Given the description of an element on the screen output the (x, y) to click on. 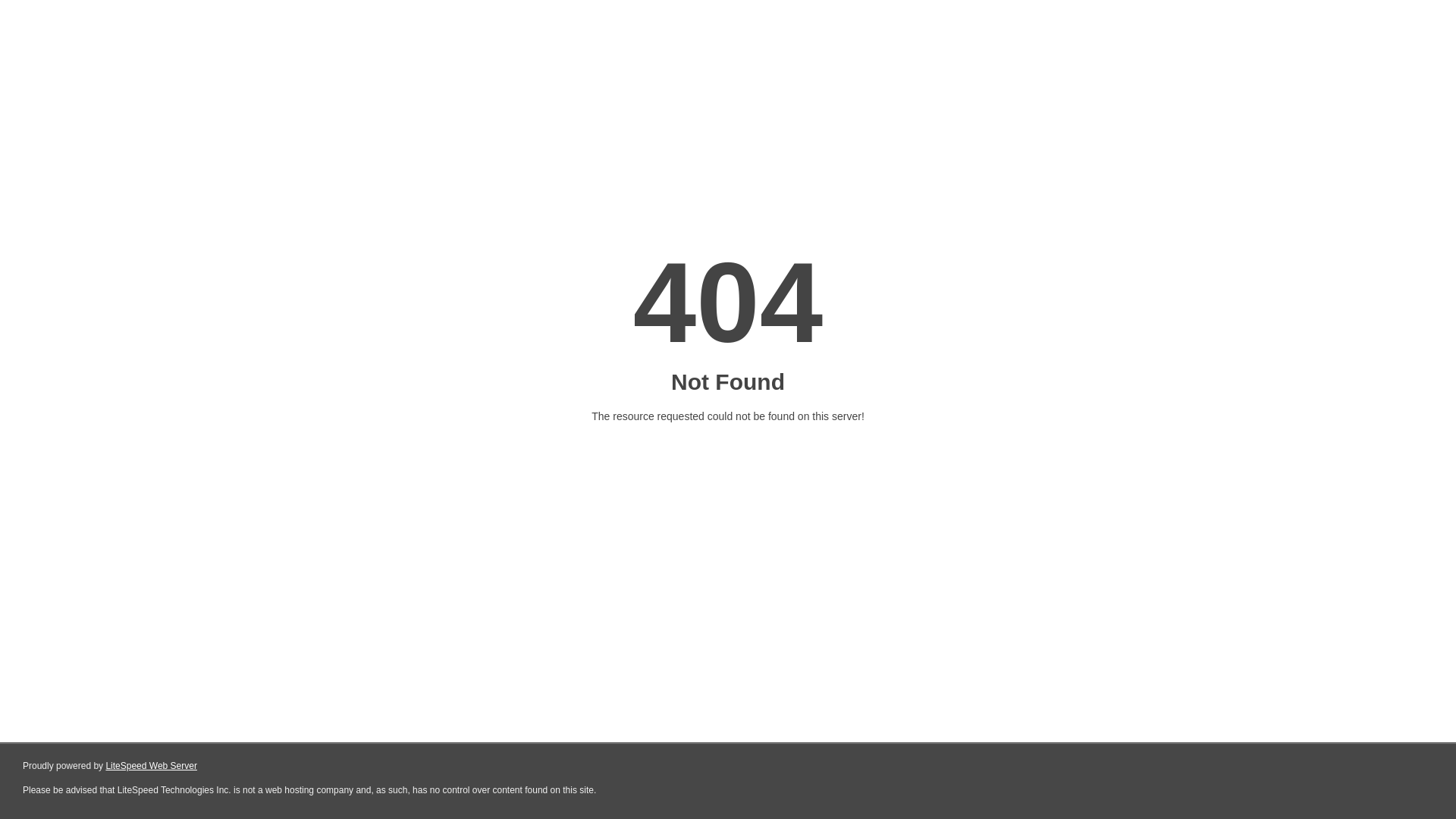
LiteSpeed Web Server Element type: text (151, 765)
